Given the description of an element on the screen output the (x, y) to click on. 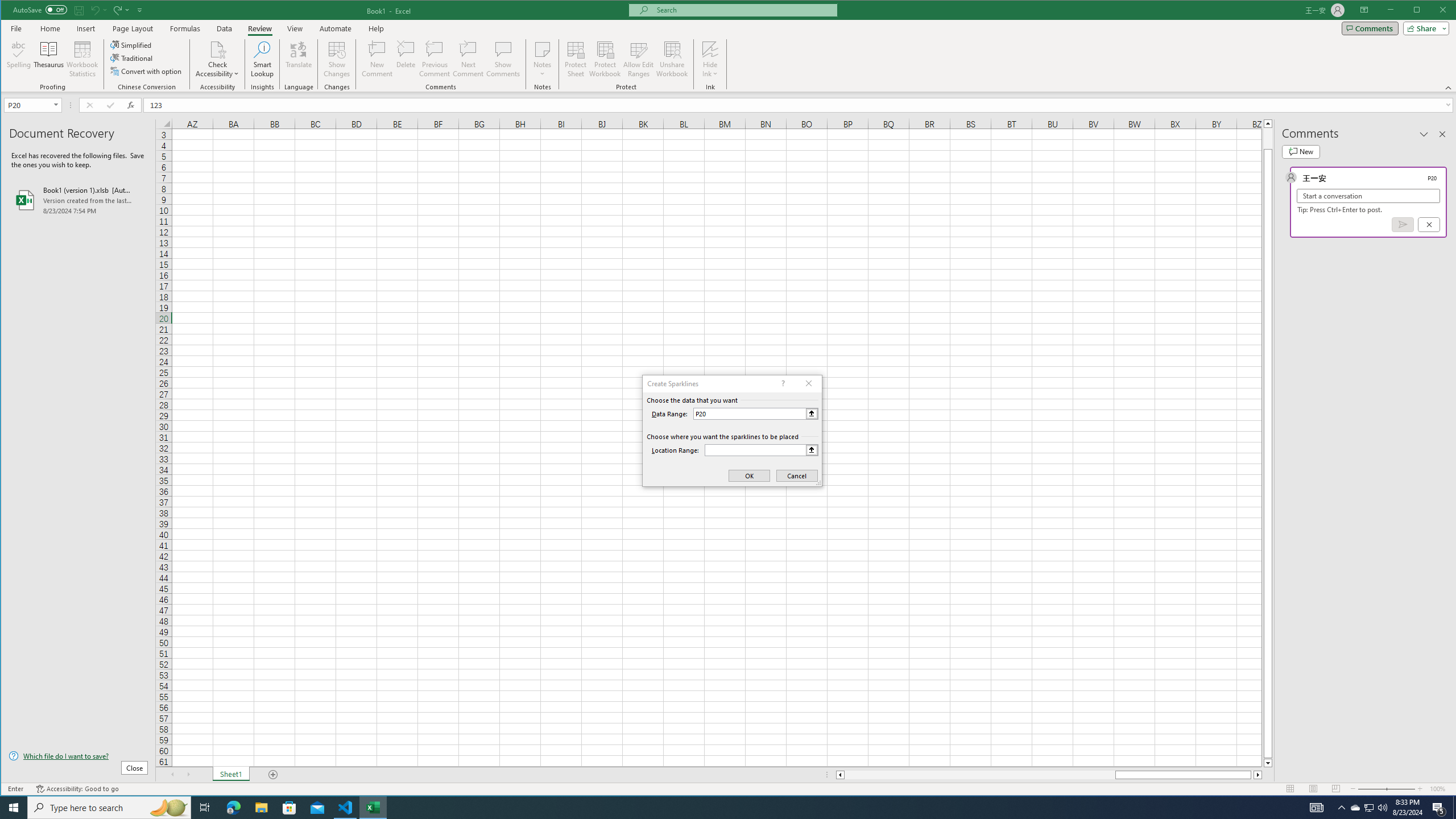
Review (259, 28)
Thesaurus... (48, 59)
Quick Access Toolbar (79, 9)
Show Comments (502, 59)
Zoom (1386, 788)
Class: NetUIScrollBar (1048, 774)
Check Accessibility (217, 48)
Allow Edit Ranges (638, 59)
Page up (1267, 138)
Save (79, 9)
Customize Quick Access Toolbar (140, 9)
Which file do I want to save? (78, 755)
